Given the description of an element on the screen output the (x, y) to click on. 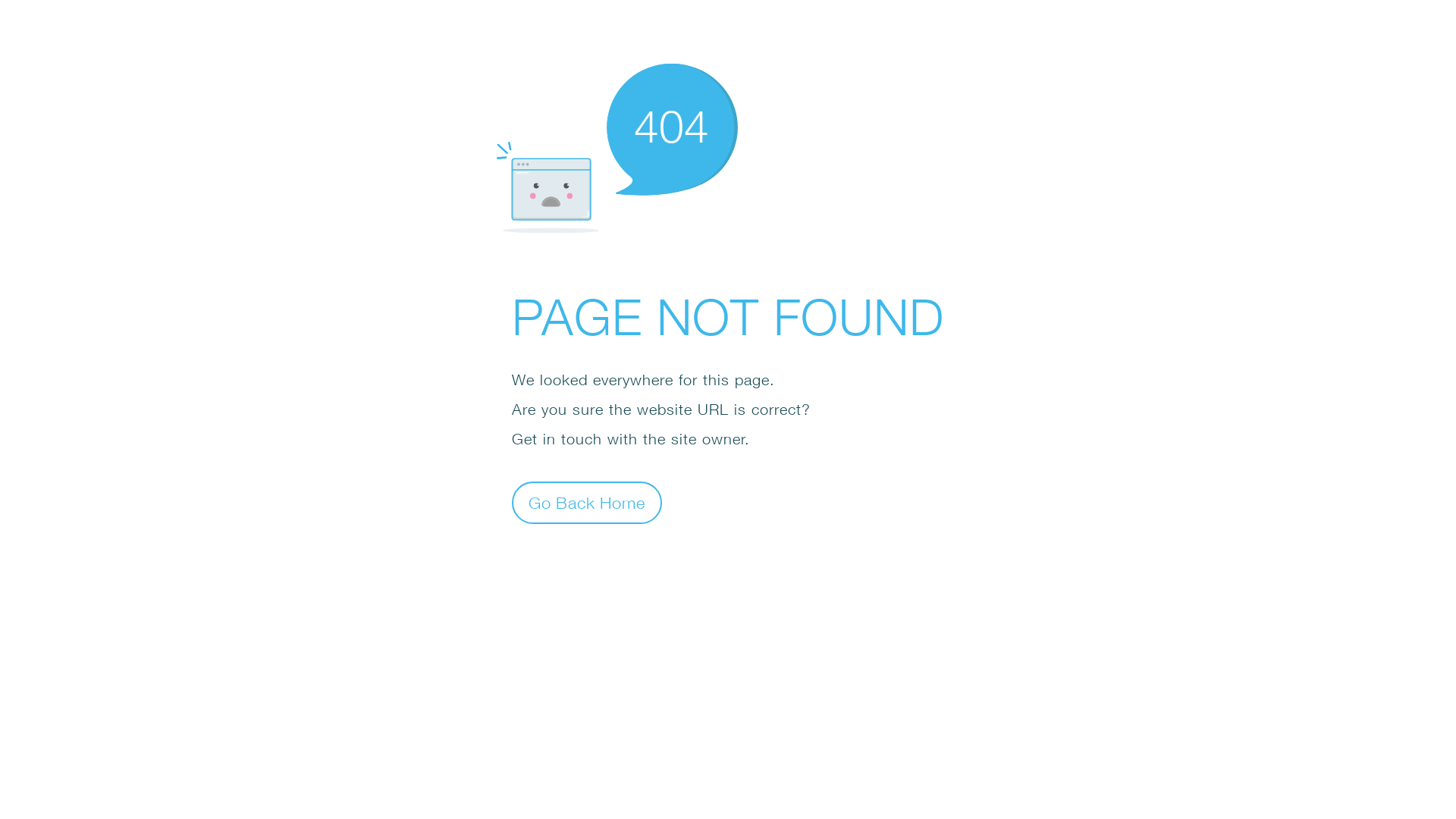
Go Back Home Element type: text (586, 502)
